Given the description of an element on the screen output the (x, y) to click on. 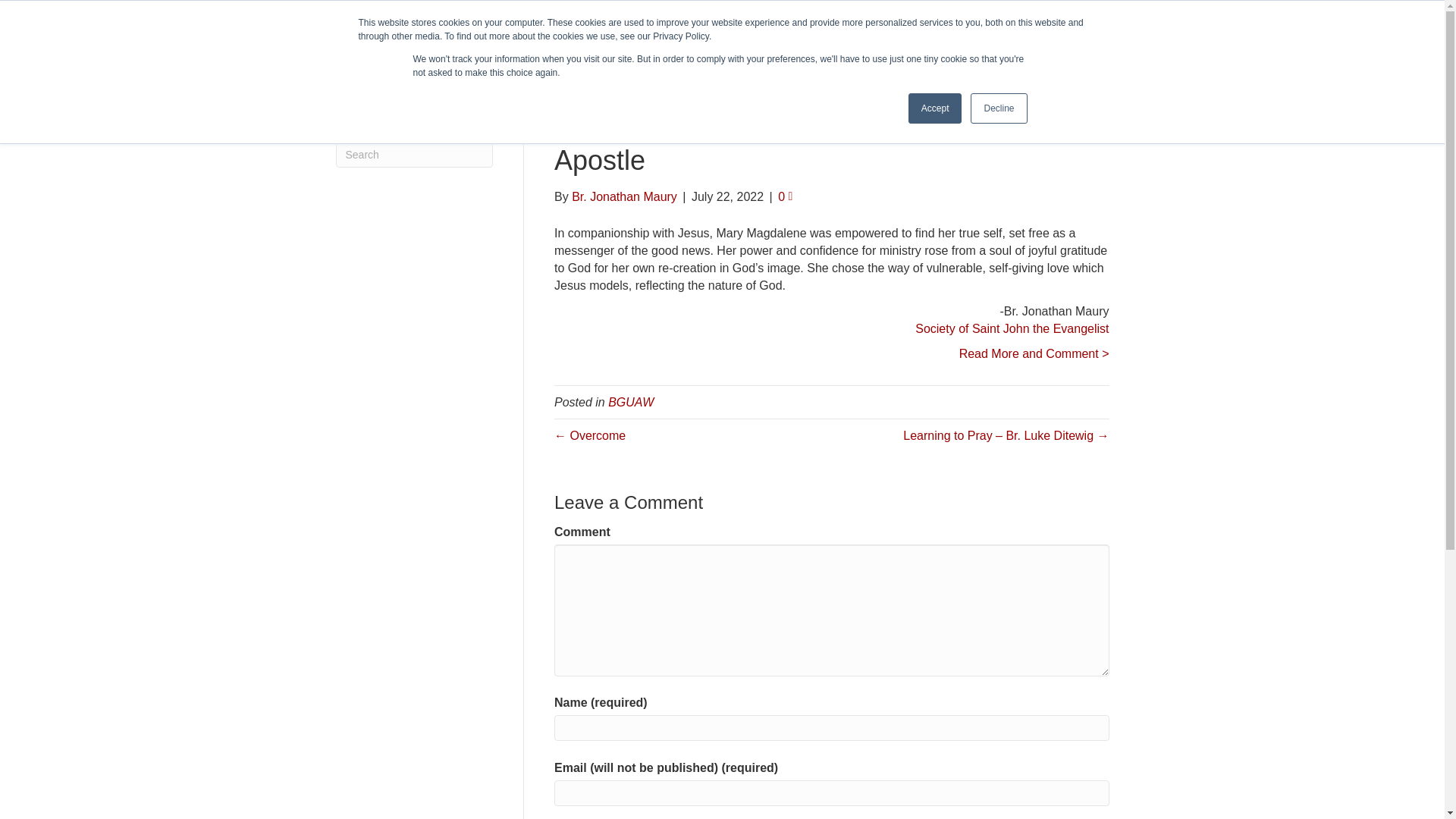
Type and press Enter to search. (413, 154)
Retreats (899, 69)
SSJE (457, 69)
Subscribe (1088, 13)
Good News (831, 69)
Accept (935, 108)
Decline (998, 108)
Livestream (912, 13)
Home (682, 69)
Daily Word (1028, 13)
